Given the description of an element on the screen output the (x, y) to click on. 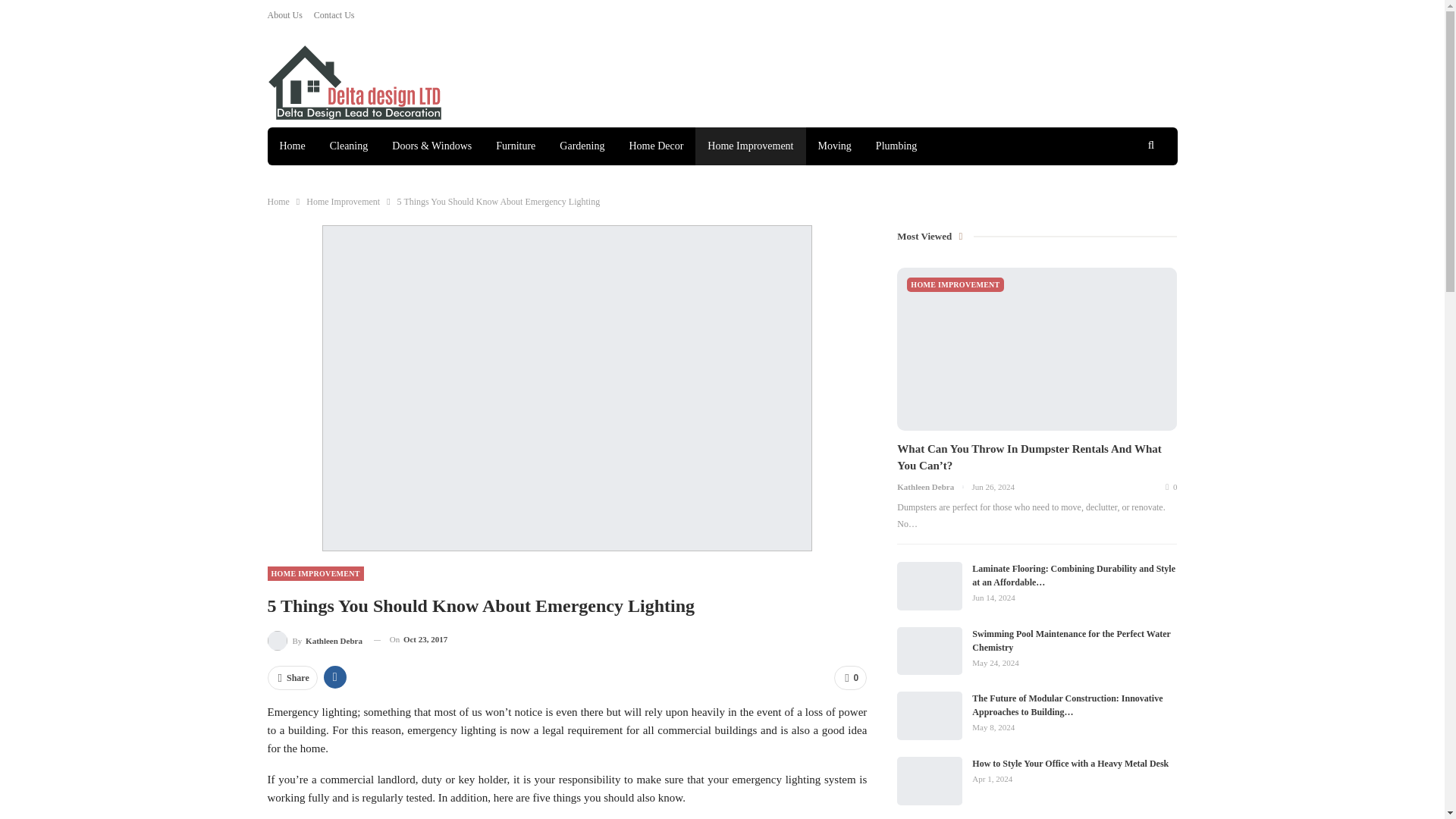
Cleaning (348, 146)
Home Improvement (750, 146)
Contact Us (334, 14)
Gardening (581, 146)
Home (277, 201)
Browse Author Articles (313, 639)
HOME IMPROVEMENT (314, 573)
Home Improvement (342, 201)
Moving (834, 146)
Plumbing (895, 146)
